Given the description of an element on the screen output the (x, y) to click on. 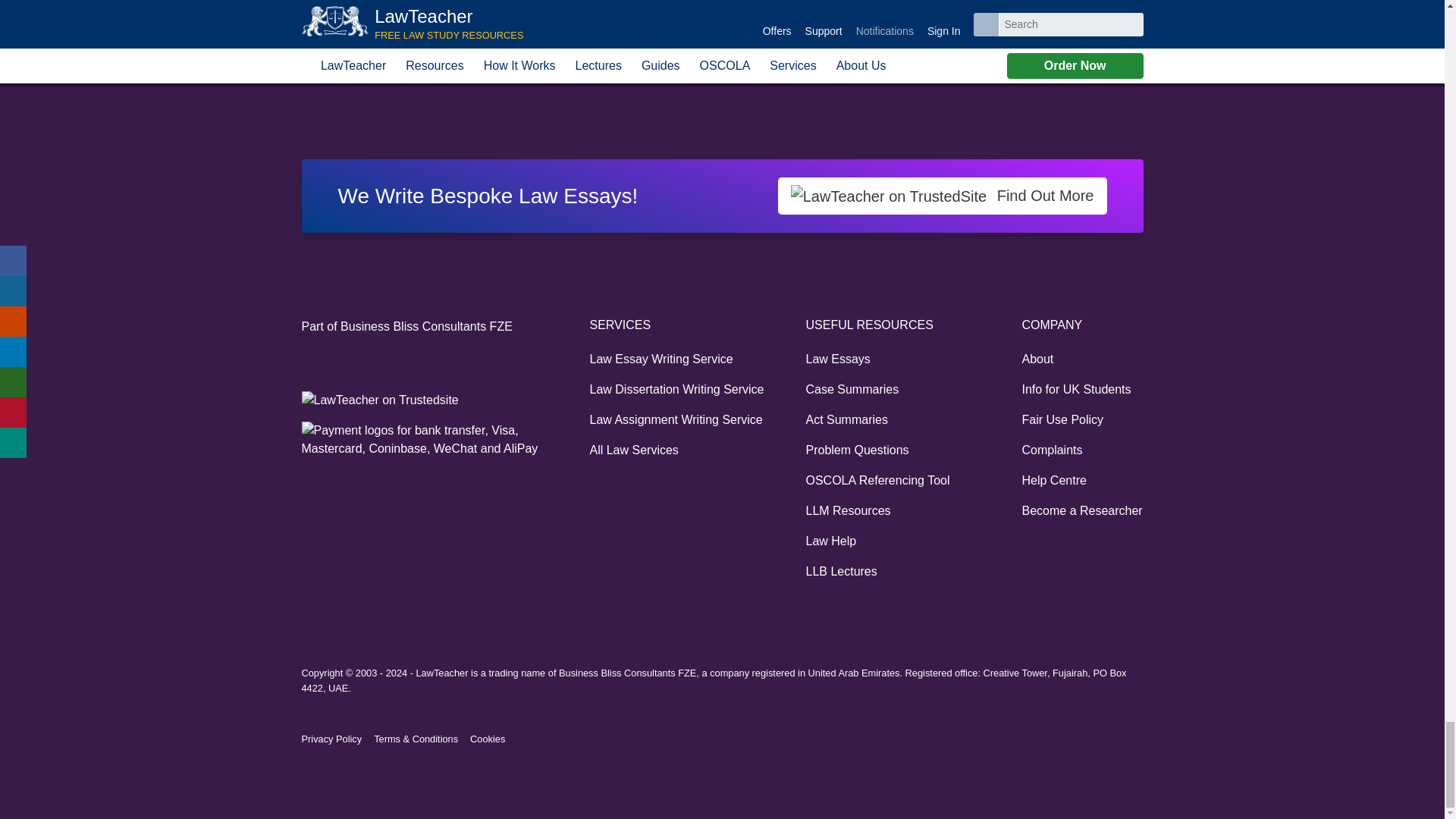
homepage link (309, 70)
